Given the description of an element on the screen output the (x, y) to click on. 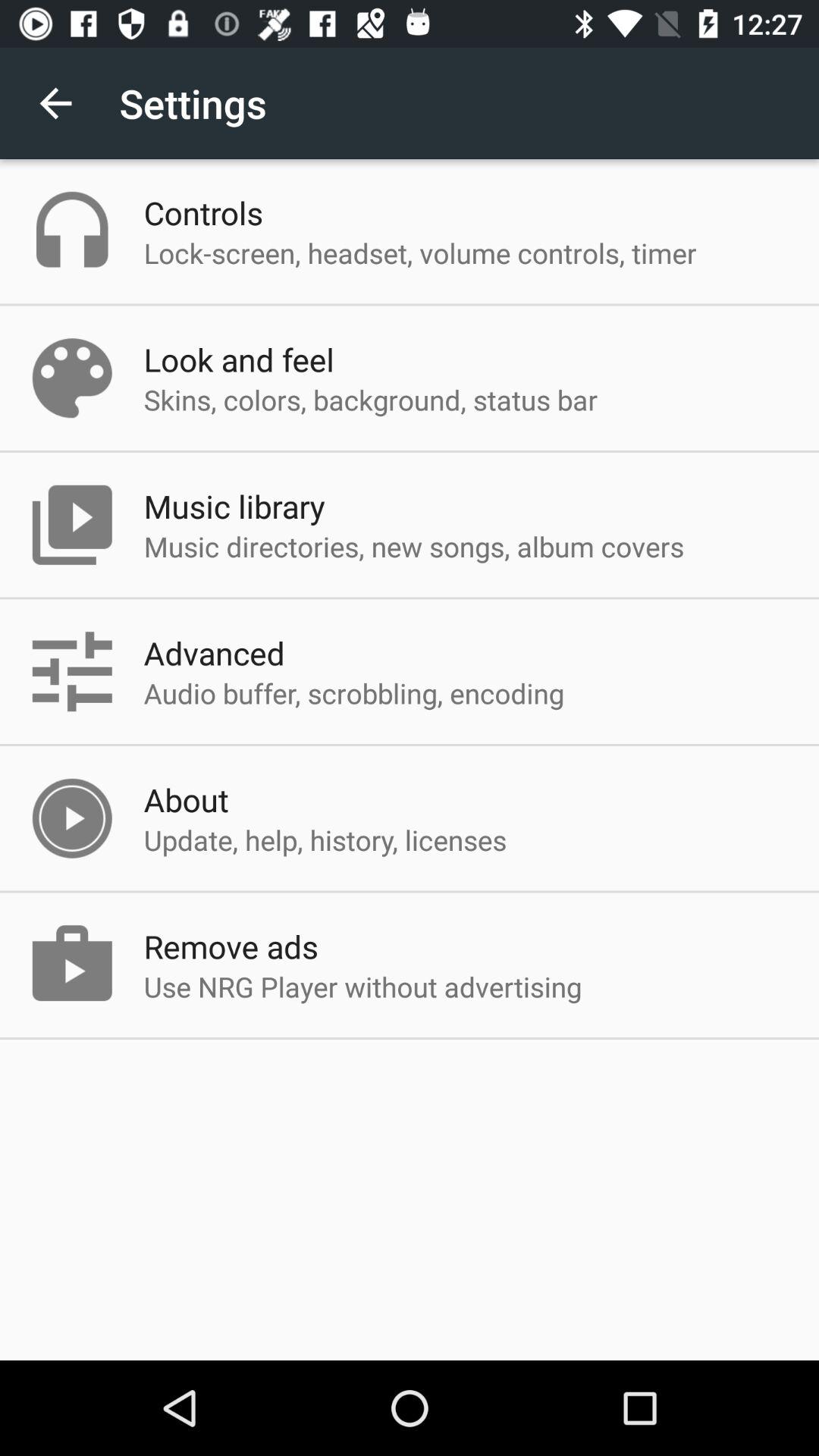
tap the app below music directories new icon (213, 652)
